Given the description of an element on the screen output the (x, y) to click on. 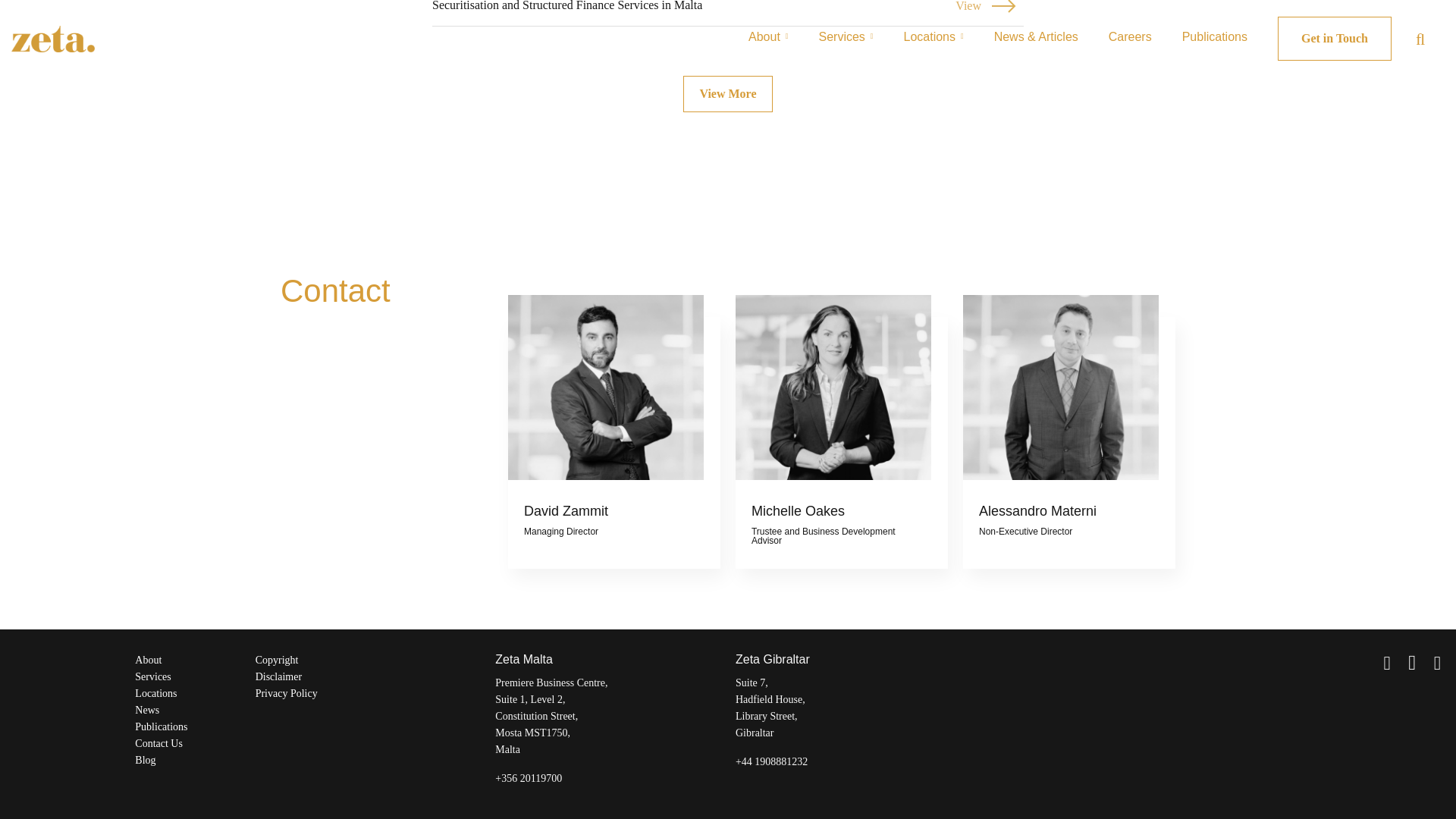
About (727, 13)
View More (148, 659)
